Given the description of an element on the screen output the (x, y) to click on. 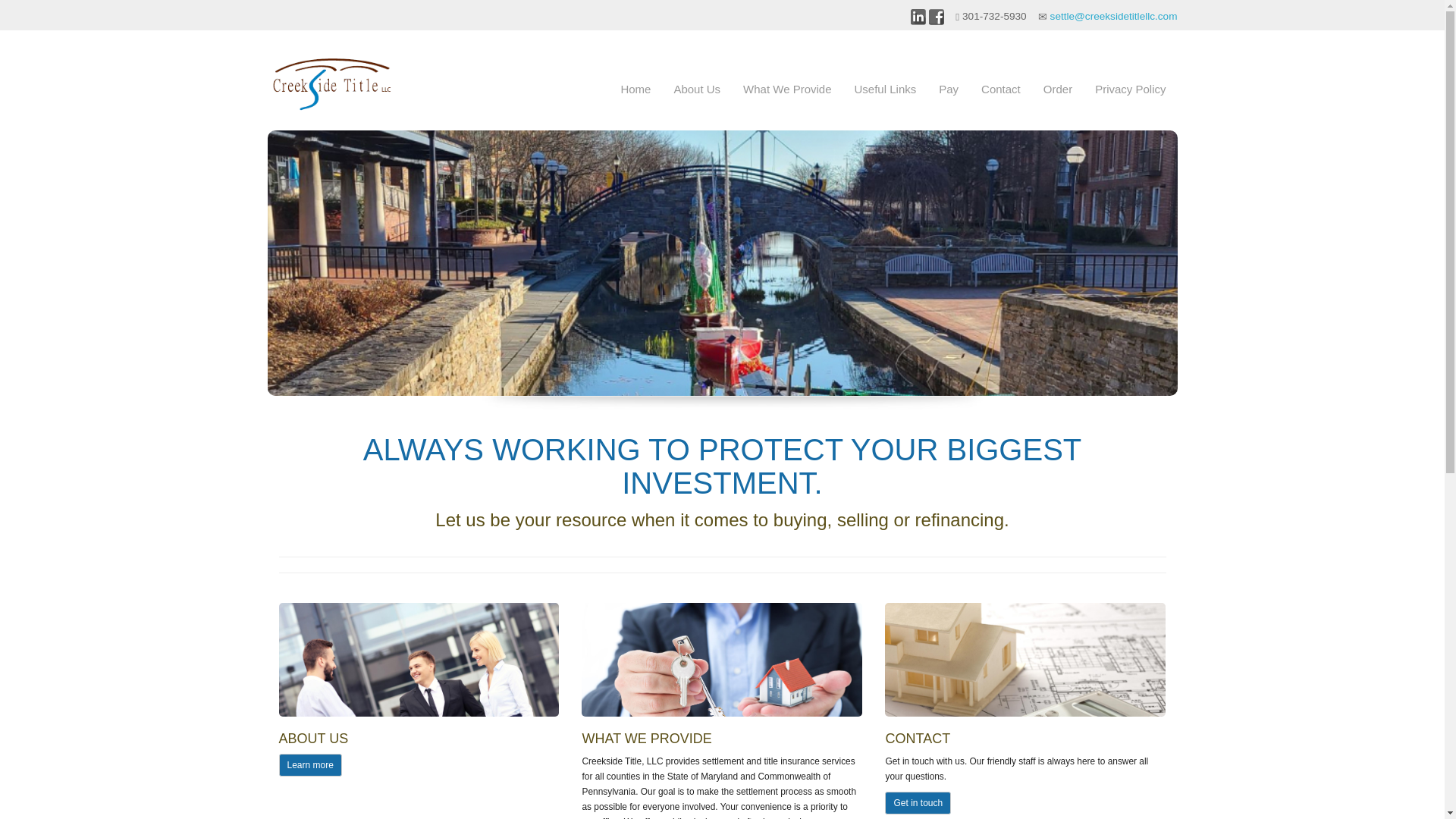
About Us (697, 89)
Useful Links (885, 89)
Home (635, 89)
Contact (1000, 89)
Get in touch (917, 802)
Order (1057, 89)
Learn more (310, 764)
Privacy Policy (1129, 89)
What We Provide (787, 89)
